Given the description of an element on the screen output the (x, y) to click on. 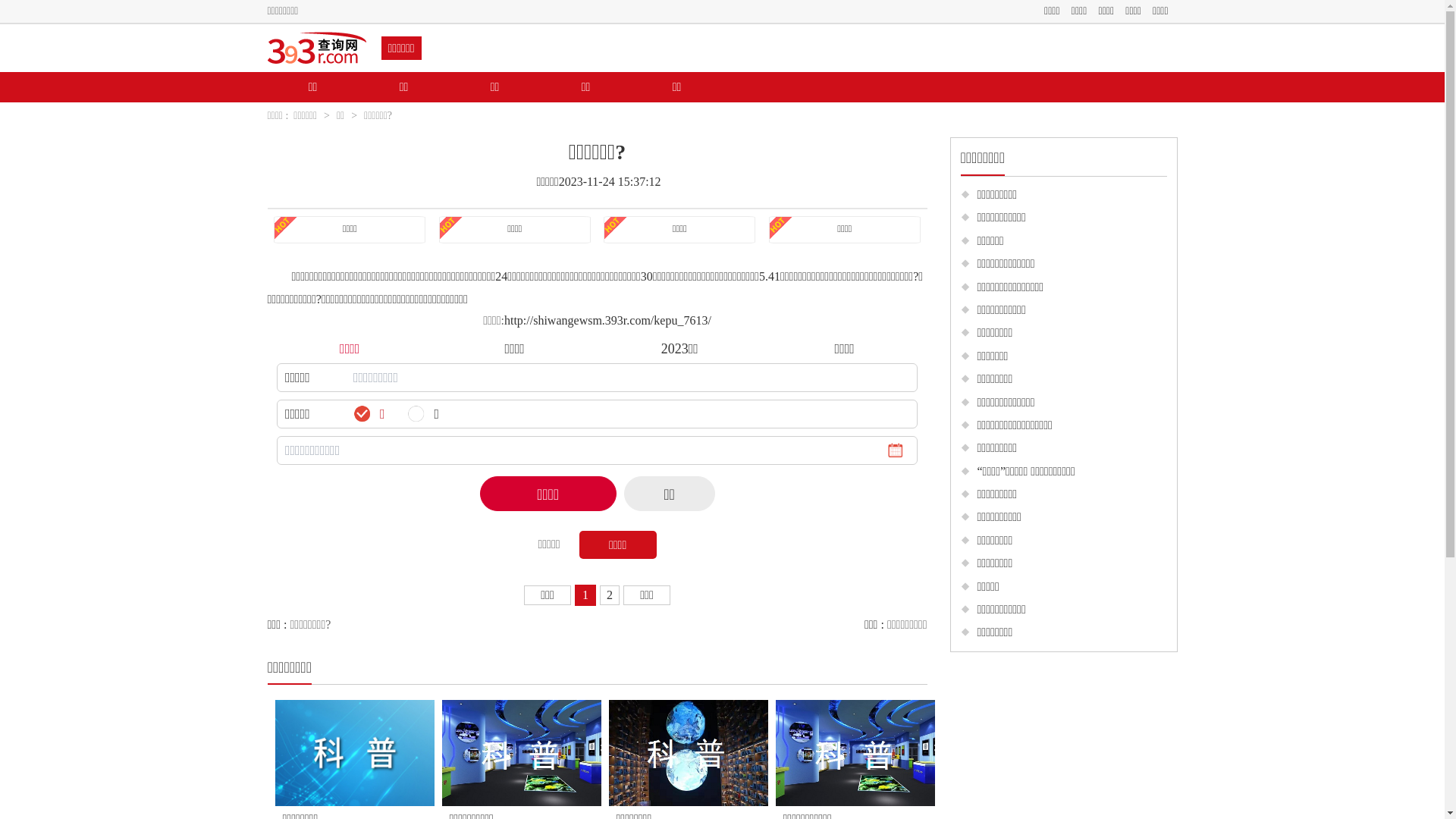
http://shiwangewsm.393r.com/kepu_7613/ Element type: text (607, 319)
1 Element type: text (585, 594)
2 Element type: text (609, 594)
